Given the description of an element on the screen output the (x, y) to click on. 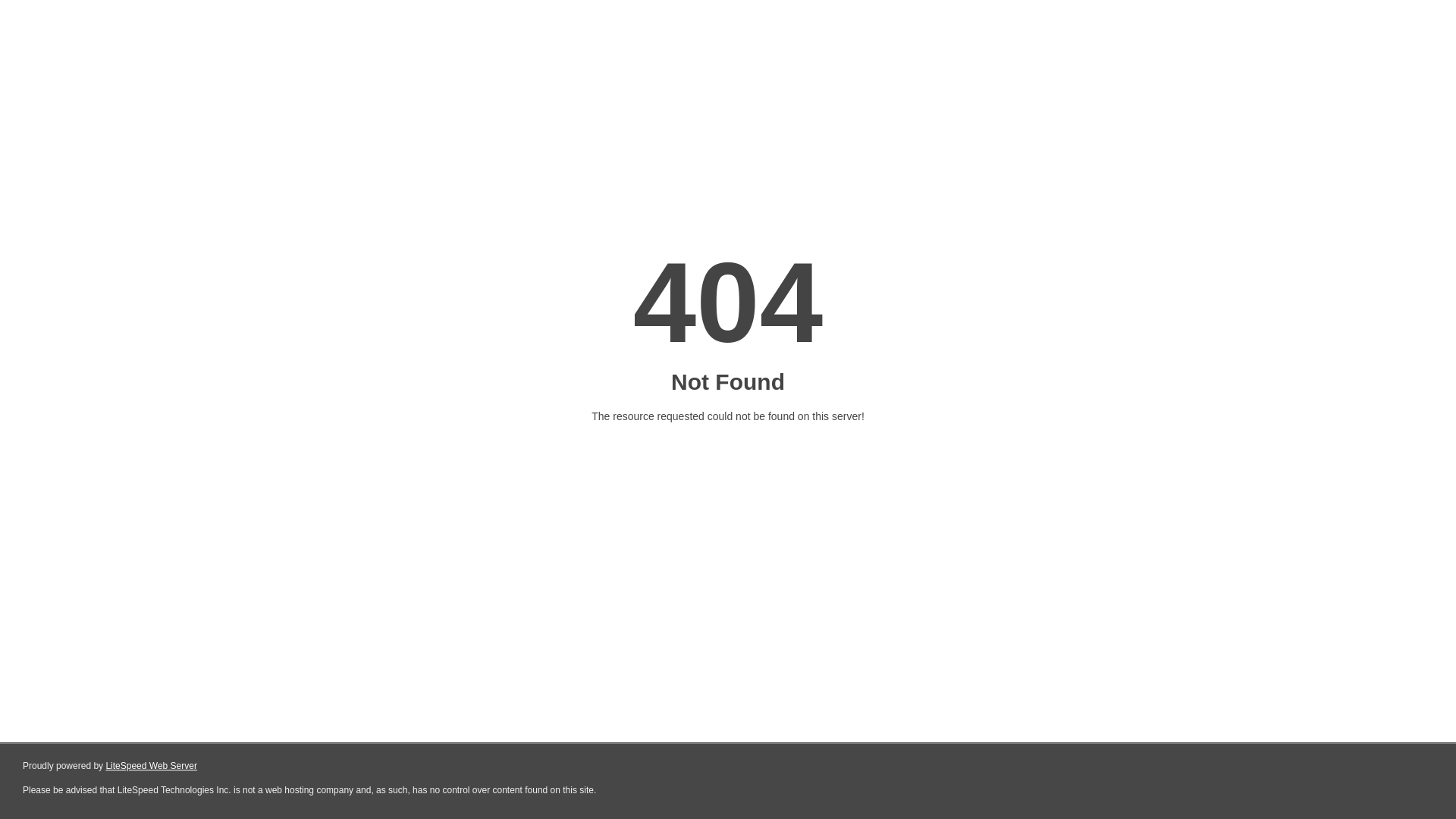
LiteSpeed Web Server Element type: text (151, 765)
